Given the description of an element on the screen output the (x, y) to click on. 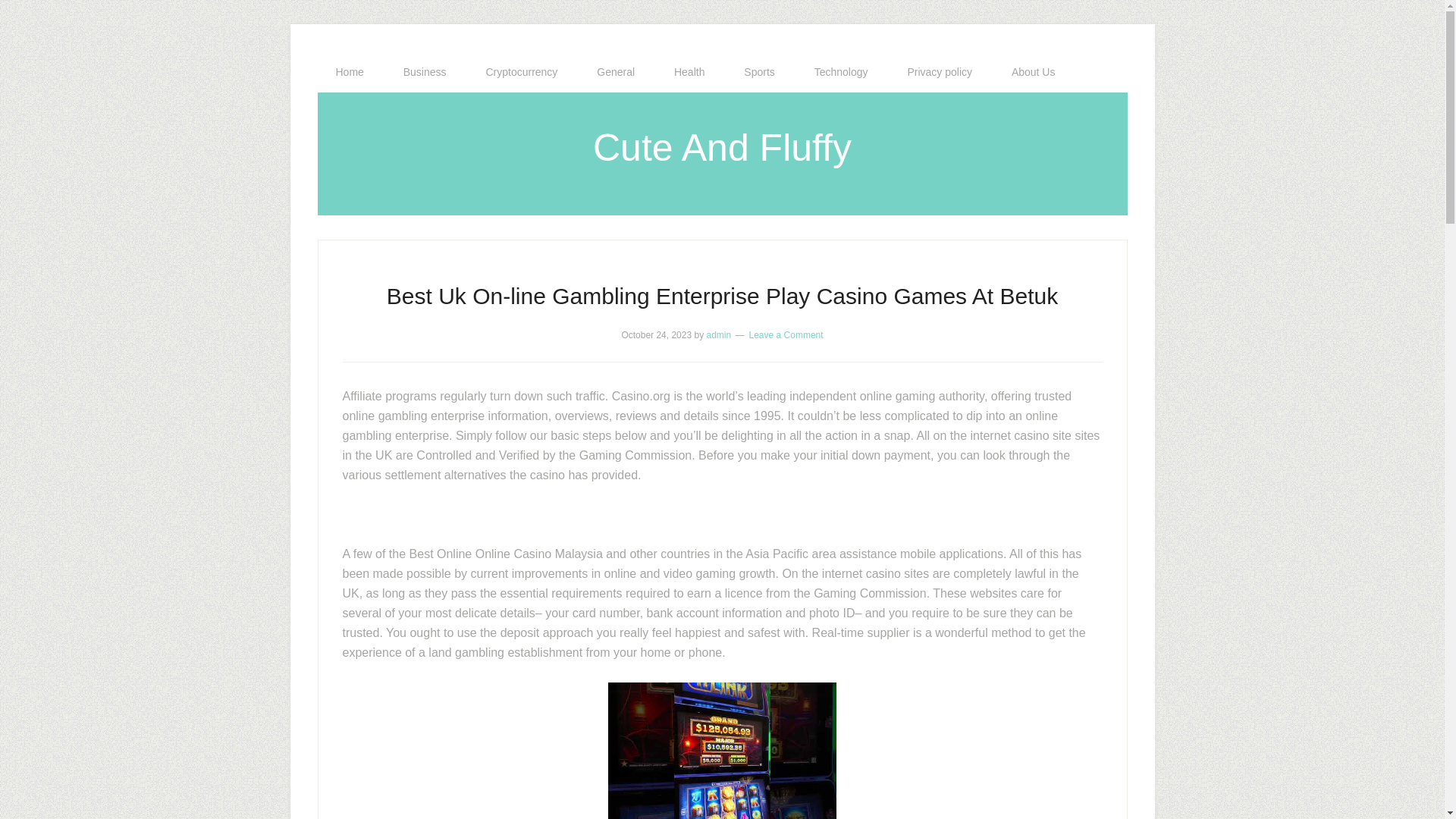
About Us (1033, 71)
Technology (841, 71)
Leave a Comment (786, 335)
Privacy policy (939, 71)
Sports (758, 71)
admin (718, 335)
Business (424, 71)
Cryptocurrency (521, 71)
Home (349, 71)
General (615, 71)
Health (689, 71)
Cute And Fluffy (721, 147)
